Given the description of an element on the screen output the (x, y) to click on. 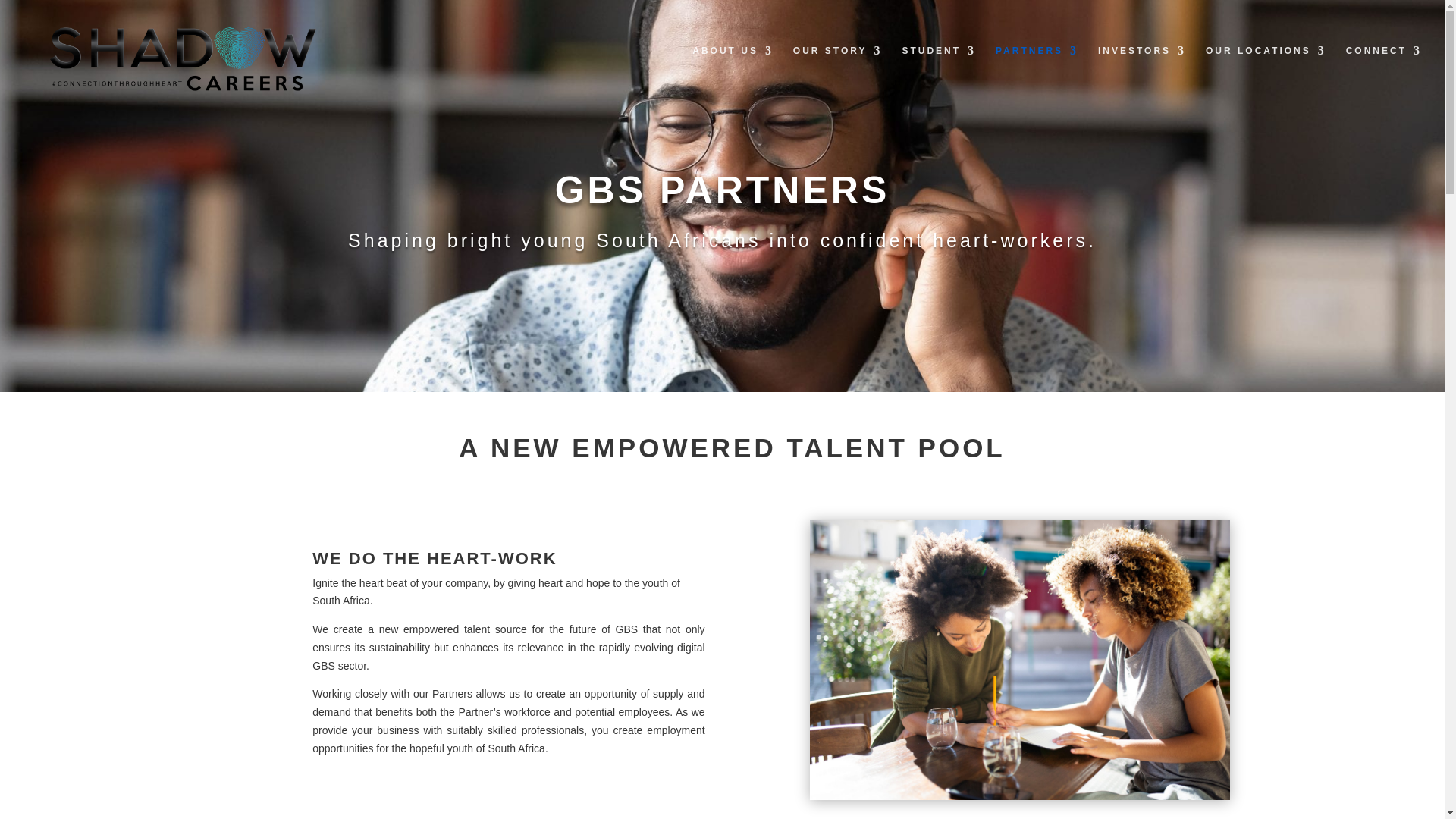
OUR LOCATIONS (1265, 73)
STUDENT (938, 73)
INVESTORS (1141, 73)
CONNECT (1383, 73)
PARTNERS (1036, 73)
ABOUT US (733, 73)
OUR STORY (837, 73)
